Given the description of an element on the screen output the (x, y) to click on. 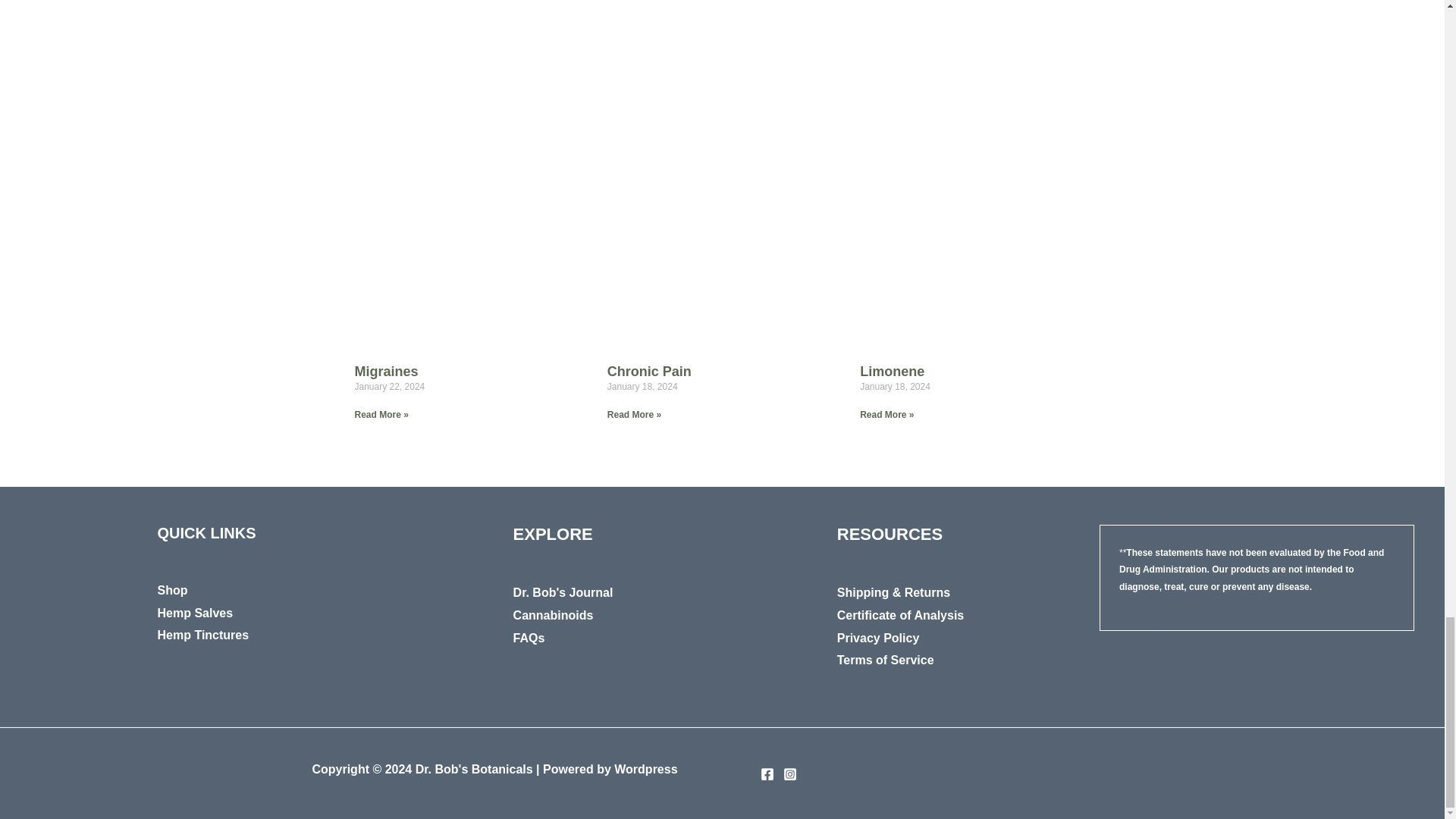
Limonene (892, 371)
Migraines (387, 371)
Chronic Pain (649, 371)
